Given the description of an element on the screen output the (x, y) to click on. 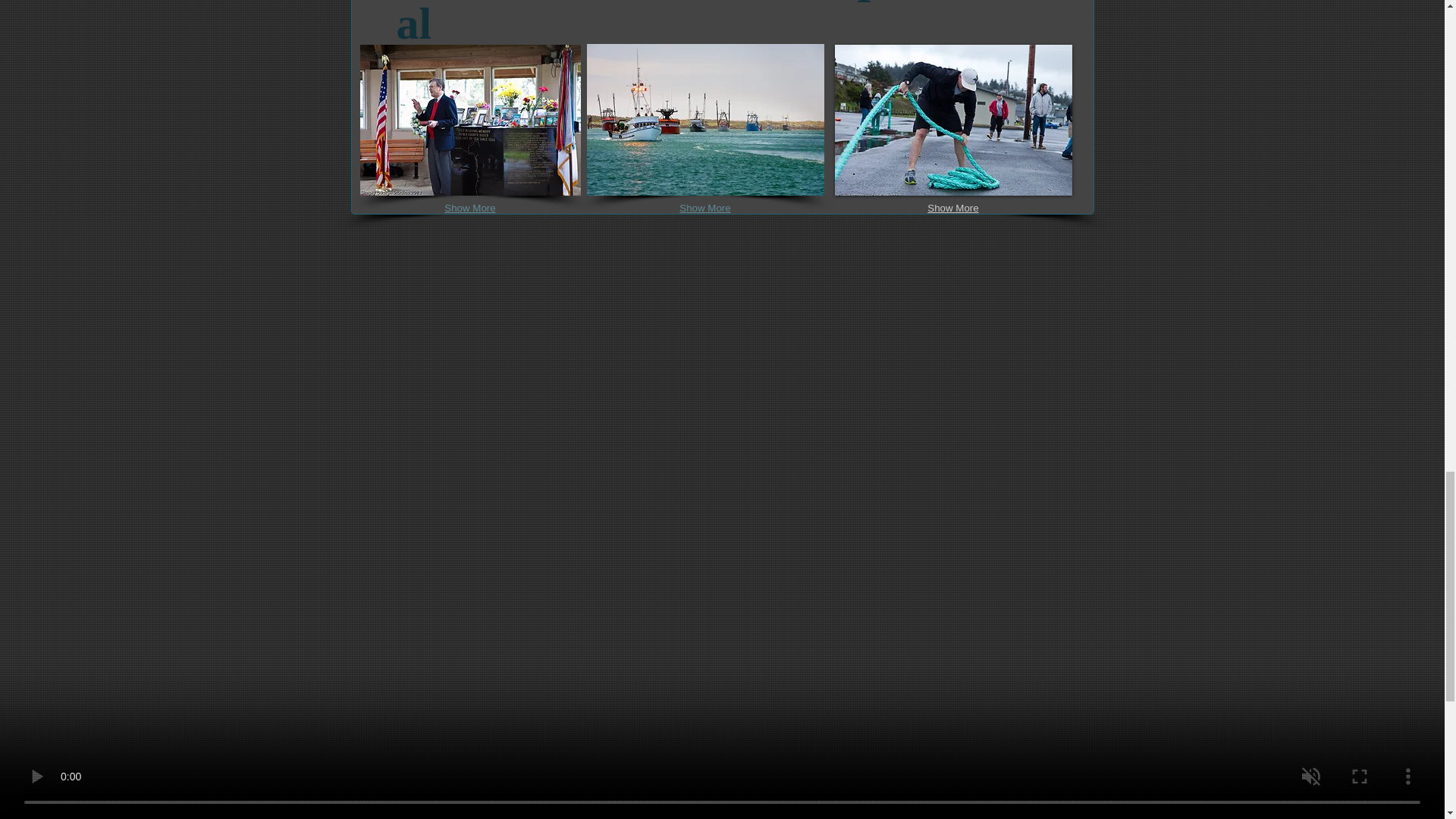
Show More (952, 208)
Show More (469, 208)
Show More (704, 208)
